Given the description of an element on the screen output the (x, y) to click on. 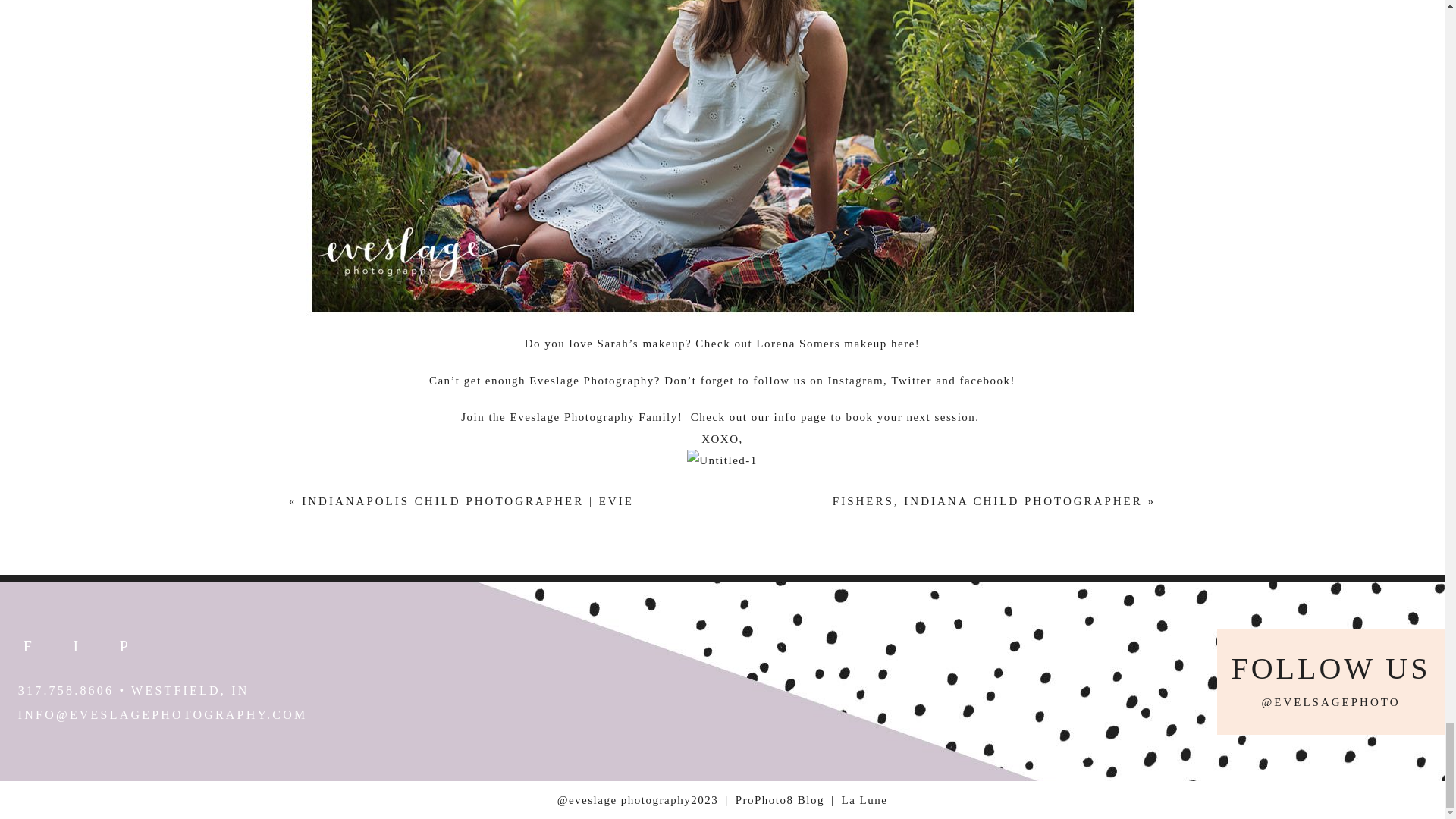
facebook (984, 380)
info page (800, 417)
Twitter (911, 380)
here (903, 343)
ProPhoto 8 (779, 799)
Instagram (855, 380)
